Given the description of an element on the screen output the (x, y) to click on. 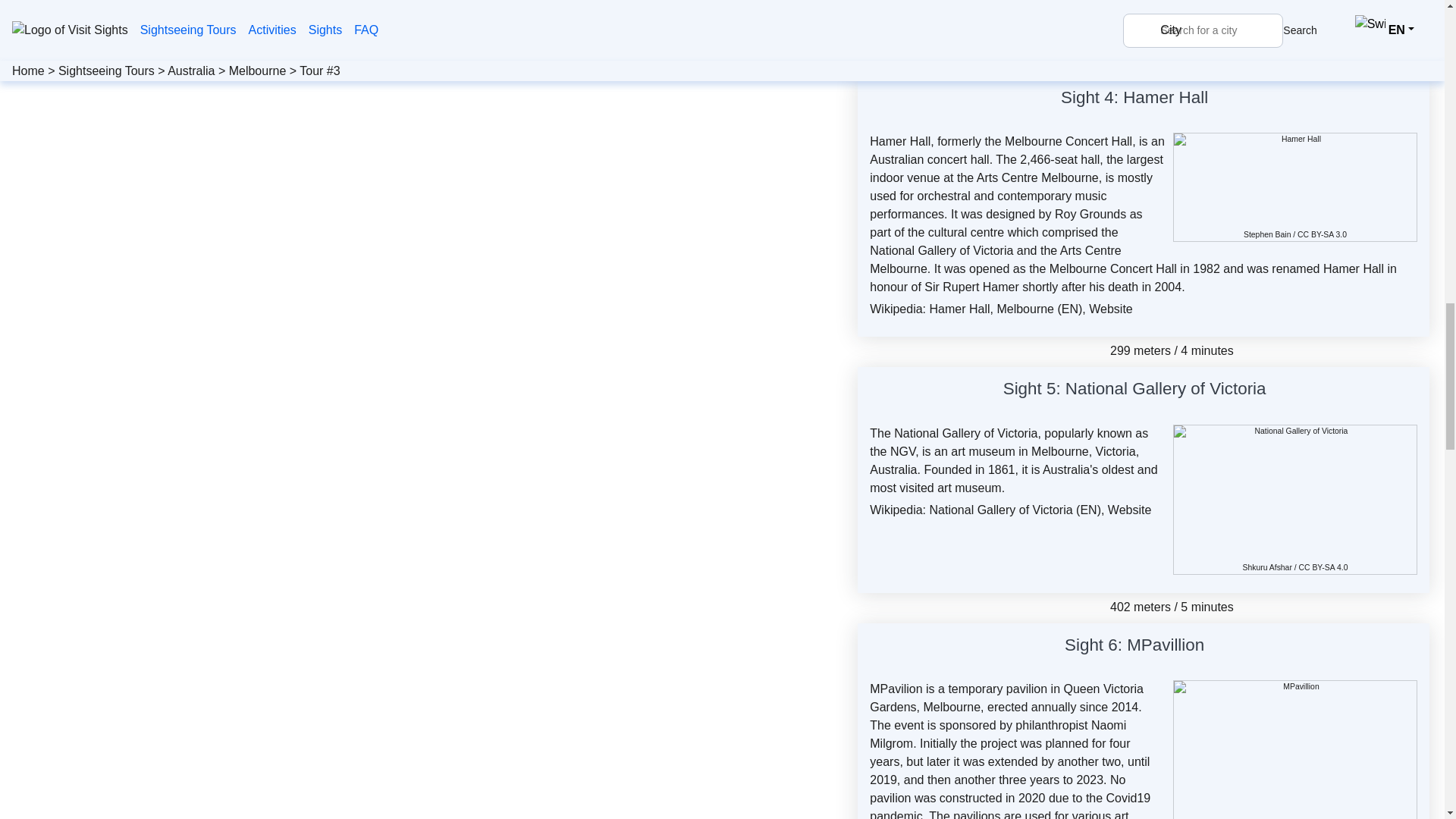
User:Stephen Bain (1266, 234)
CC BY 2.0 (1372, 19)
a.canvas.of.light (1226, 19)
Show sight on map (1275, 391)
Stephen Bain (1266, 234)
Show sight on map (1216, 99)
CC BY-SA 3.0 (1321, 234)
